Given the description of an element on the screen output the (x, y) to click on. 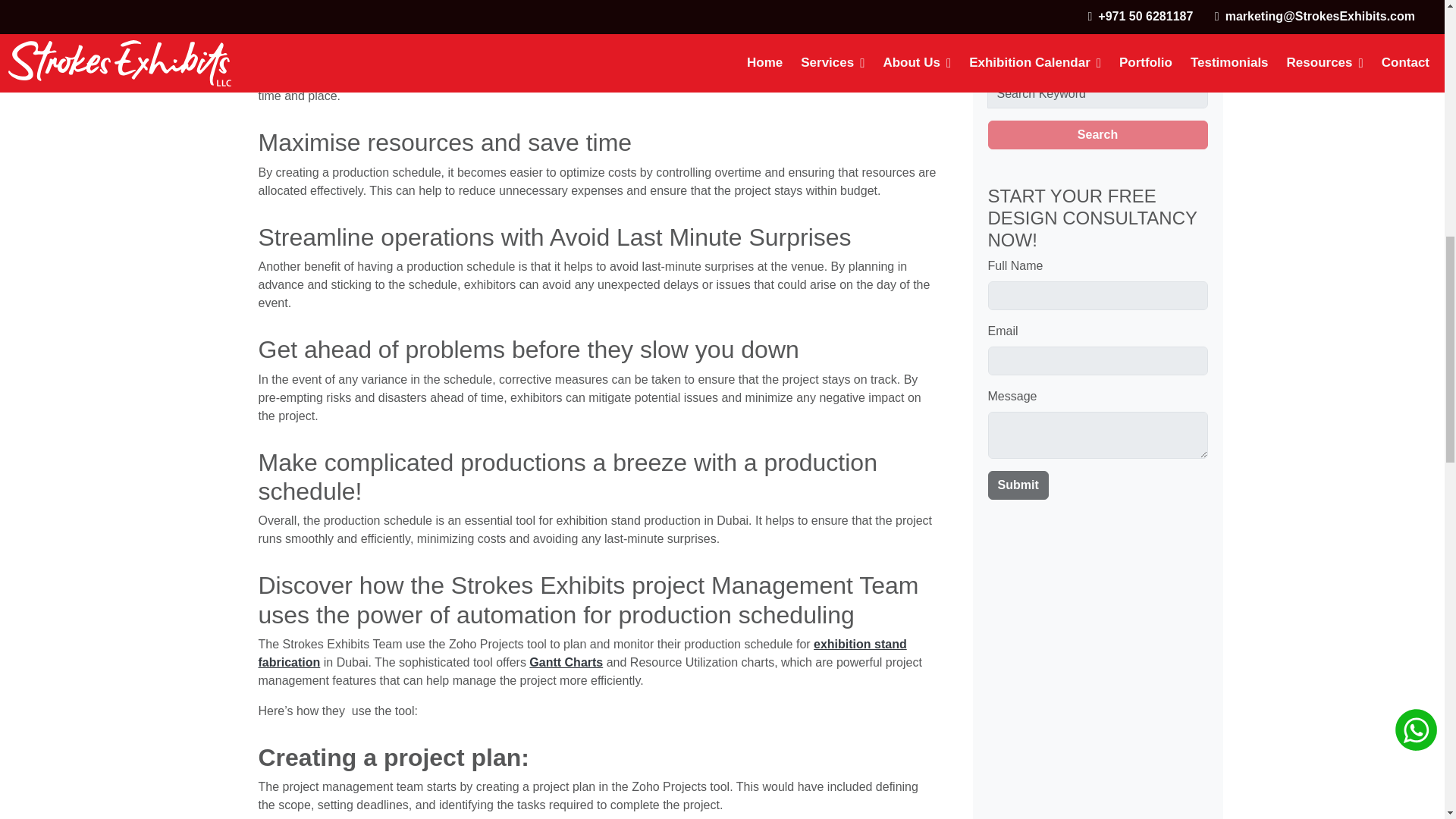
Search (1097, 134)
Search (1097, 134)
Submit (1017, 484)
